Given the description of an element on the screen output the (x, y) to click on. 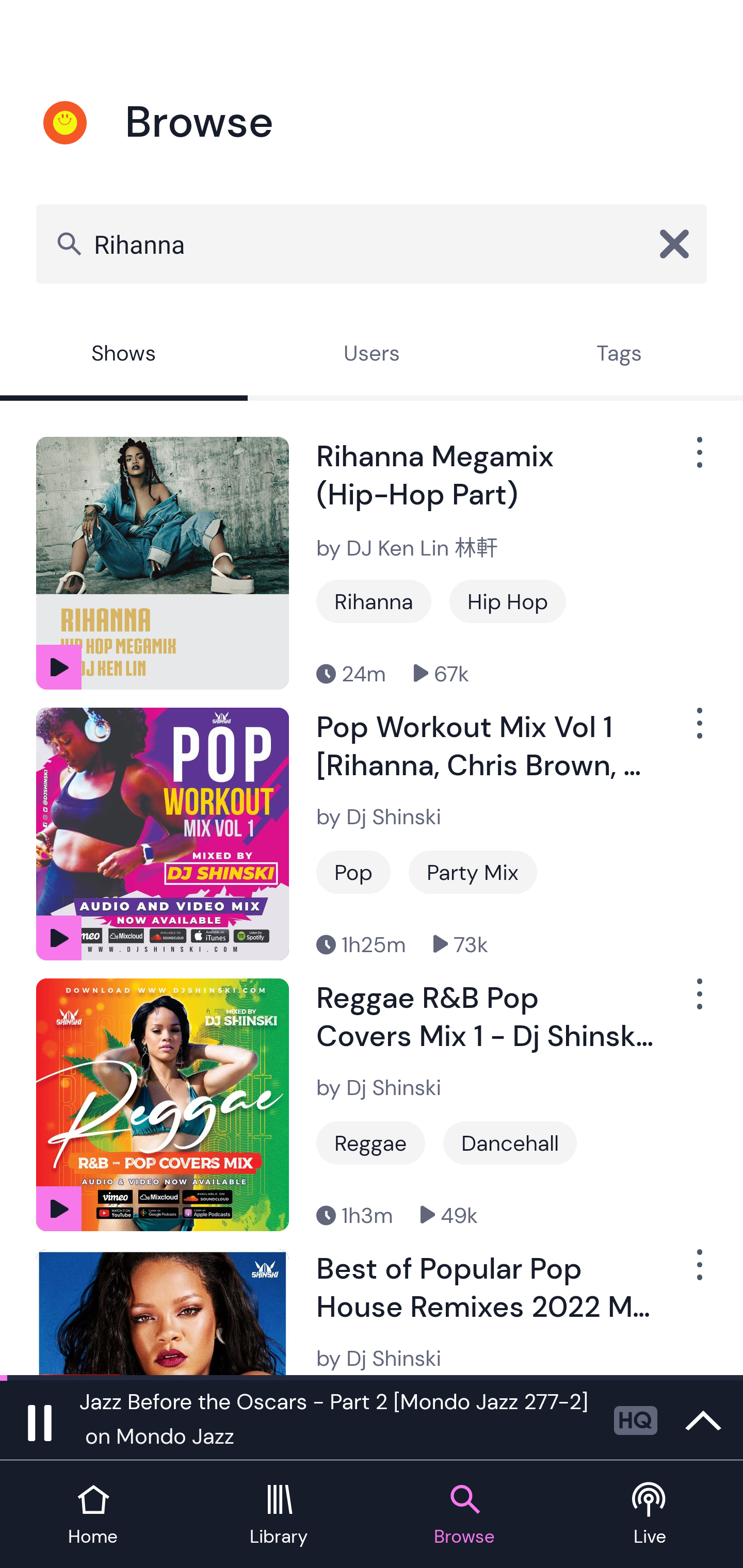
Rihanna (371, 243)
Shows (123, 355)
Users (371, 355)
Tags (619, 355)
Show Options Menu Button (697, 460)
Rihanna (373, 601)
Hip Hop (507, 601)
Show Options Menu Button (697, 730)
Pop (353, 871)
Party Mix (472, 871)
Show Options Menu Button (697, 1001)
Reggae (370, 1143)
Dancehall (509, 1143)
Show Options Menu Button (697, 1272)
Home tab Home (92, 1515)
Library tab Library (278, 1515)
Browse tab Browse (464, 1515)
Live tab Live (650, 1515)
